Given the description of an element on the screen output the (x, y) to click on. 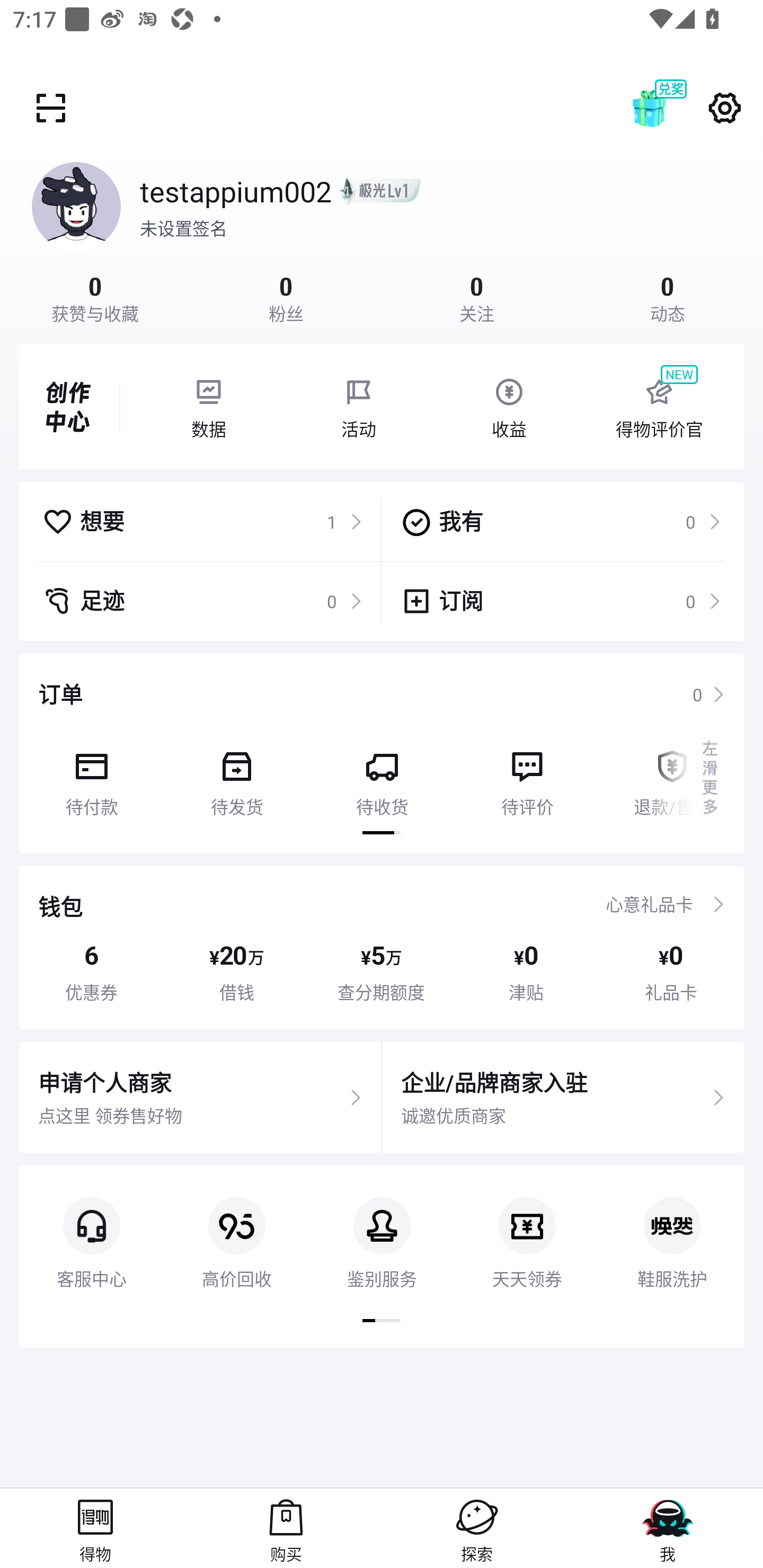
兑奖 (667, 107)
testappium002 未设置签名 0 获赞与收藏 0 粉丝 0 关注 0 动态 (381, 233)
0 获赞与收藏 (95, 296)
0 粉丝 (285, 296)
0 关注 (476, 296)
0 动态 (667, 296)
数据 (208, 406)
活动 (358, 406)
收益 (508, 406)
NEW 得物评价官 (658, 406)
想要 1 (201, 521)
我有 0 (560, 521)
足迹 0 (201, 601)
订阅 0 (560, 601)
订单 0 待付款 待发货 待收货 待评价 退款/售后 (381, 752)
待付款 (91, 776)
待发货 (236, 776)
待收货 (381, 776)
待评价 (526, 776)
退款/售后 (671, 776)
心意礼品卡 (648, 903)
6 优惠券 (91, 971)
¥ 20 万 借钱 (236, 971)
¥ 5 万 查分期额度 (381, 971)
¥ 0 津贴 (525, 971)
¥ 0 礼品卡 (670, 971)
申请个人商家 点这里 领券售好物 (199, 1097)
企业/品牌商家入驻 诚邀优质商家 (562, 1097)
客服中心 (91, 1227)
高价回收 (236, 1227)
鉴别服务 (381, 1227)
天天领券 (526, 1227)
鞋服洗护 (671, 1227)
得物 (95, 1528)
购买 (285, 1528)
探索 (476, 1528)
我 (667, 1528)
